Given the description of an element on the screen output the (x, y) to click on. 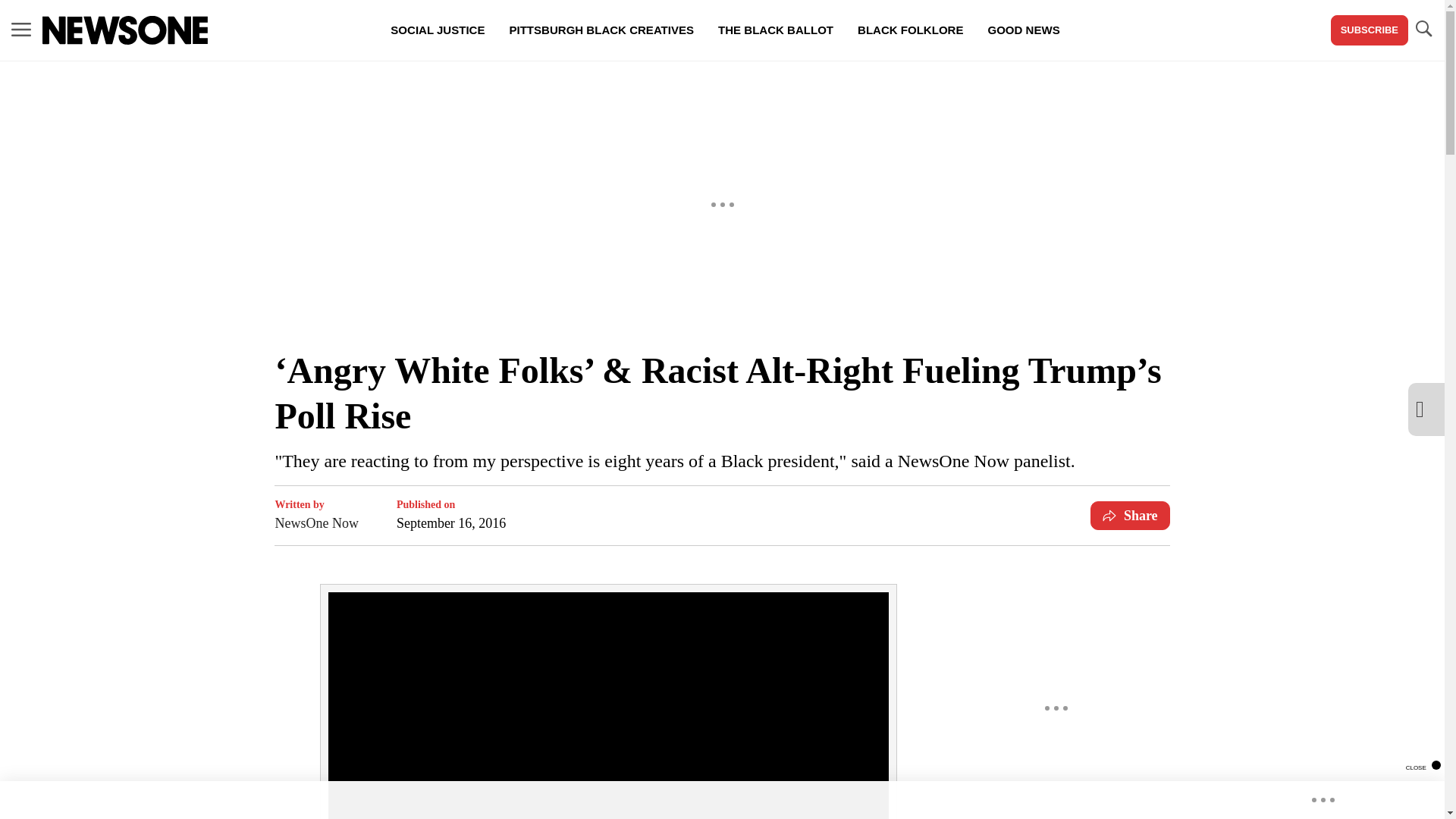
GOOD NEWS (1023, 30)
PITTSBURGH BLACK CREATIVES (601, 30)
TOGGLE SEARCH (1422, 30)
THE BLACK BALLOT (775, 30)
NewsOne Now (316, 522)
Share (1130, 515)
BLACK FOLKLORE (910, 30)
MENU (20, 30)
TOGGLE SEARCH (1422, 28)
SUBSCRIBE (1368, 30)
